Given the description of an element on the screen output the (x, y) to click on. 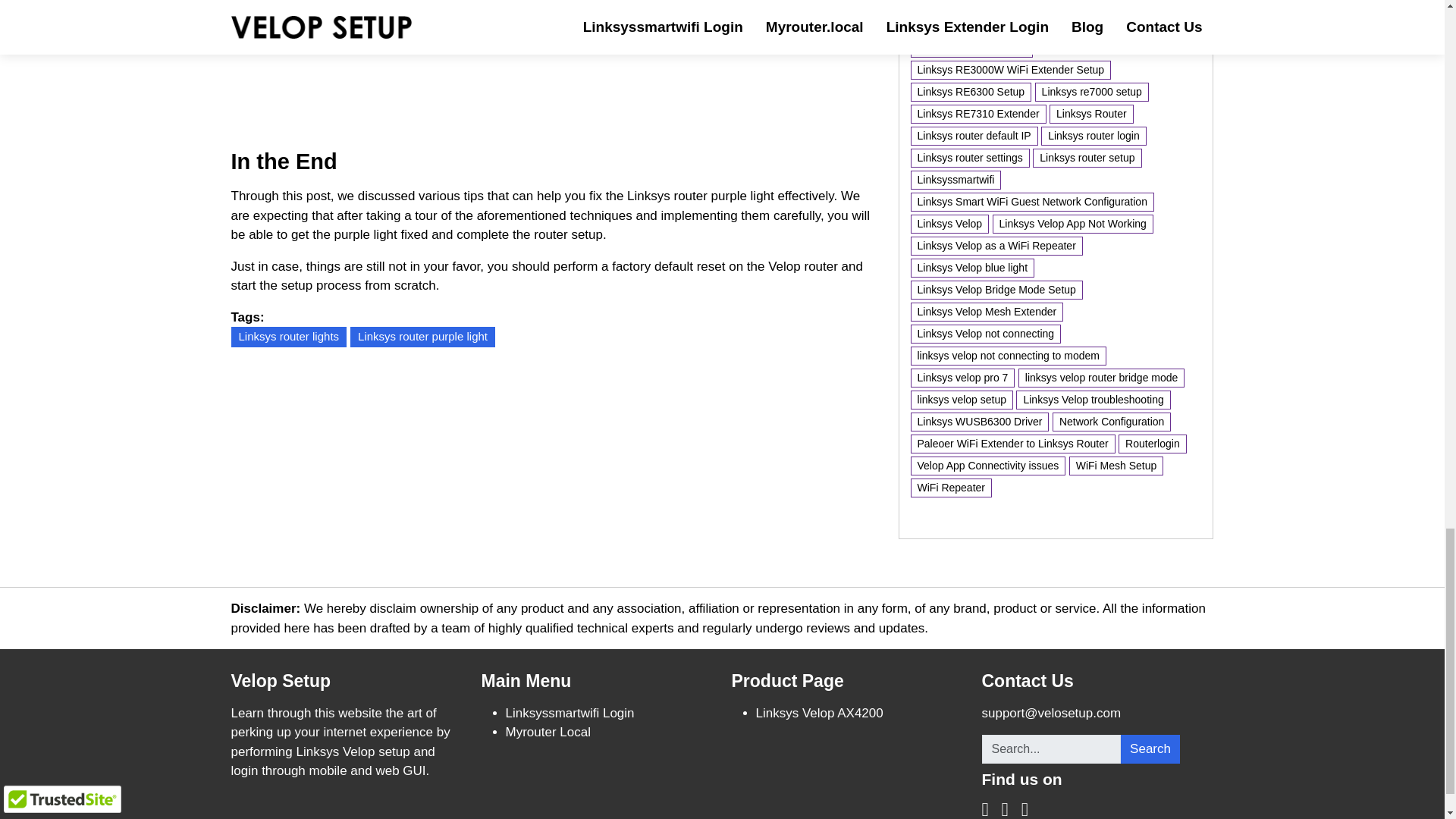
Search (1150, 748)
Linksys router lights (288, 336)
Search (1150, 748)
Linksys router purple light (422, 336)
